Given the description of an element on the screen output the (x, y) to click on. 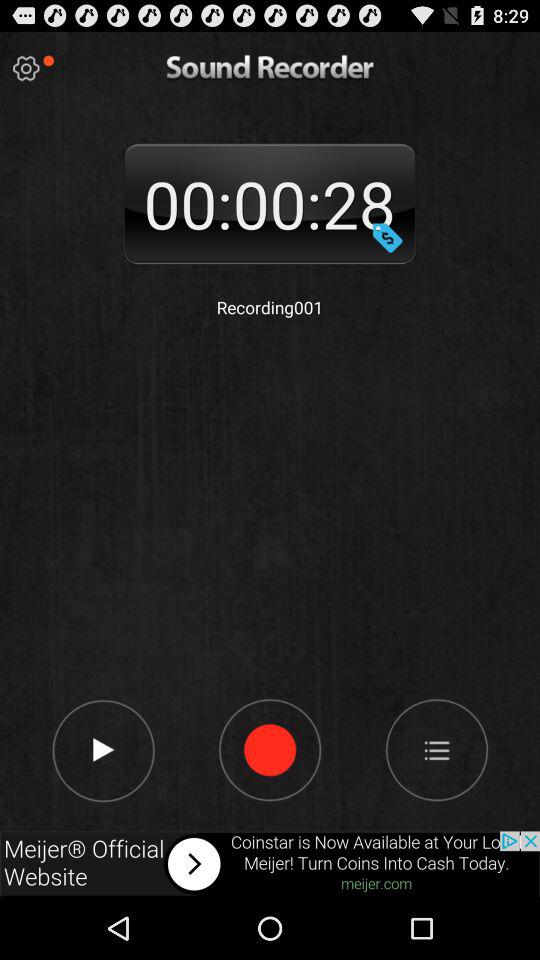
settings (26, 68)
